Given the description of an element on the screen output the (x, y) to click on. 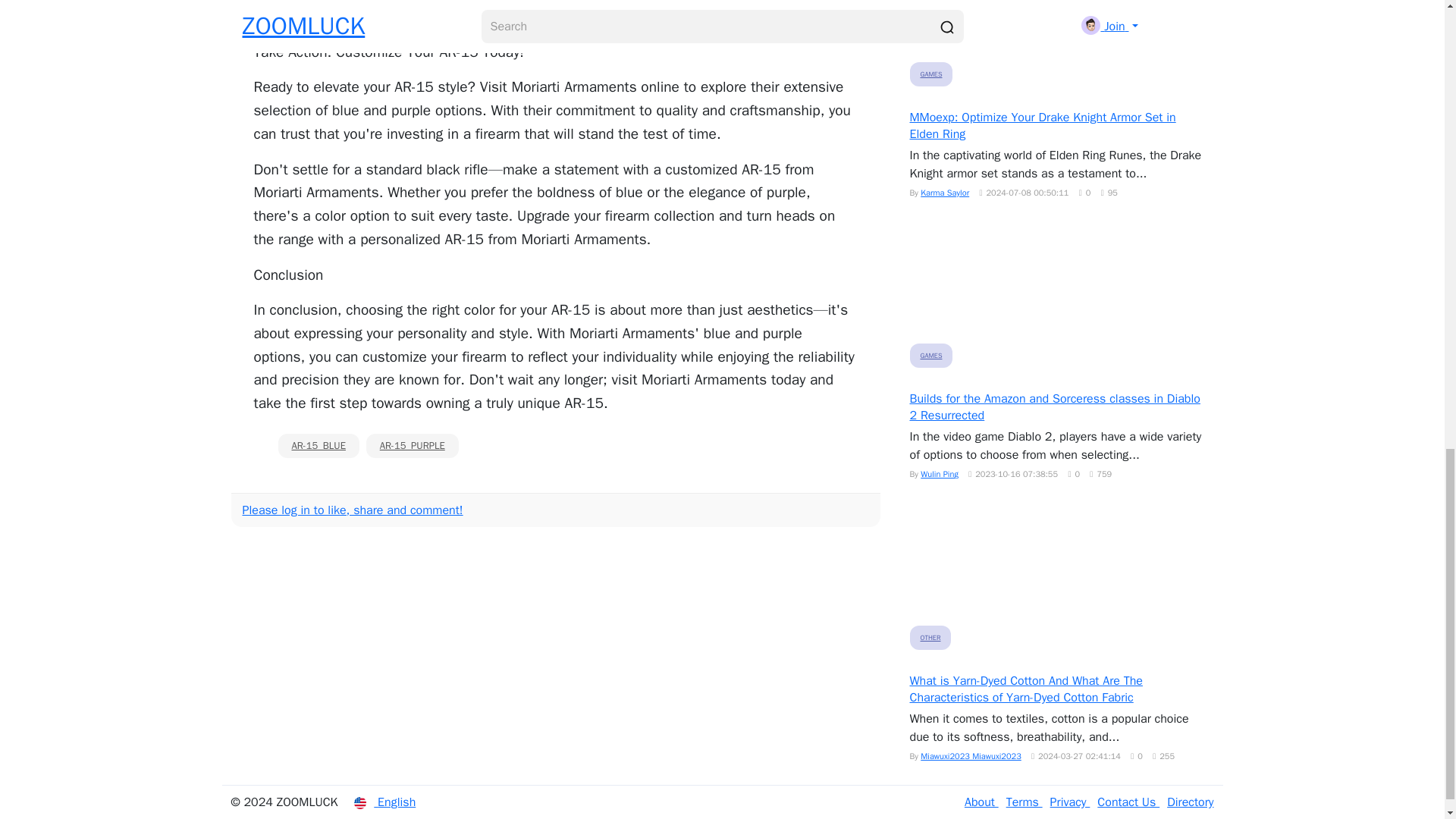
Please log in to like, share and comment! (353, 509)
